Given the description of an element on the screen output the (x, y) to click on. 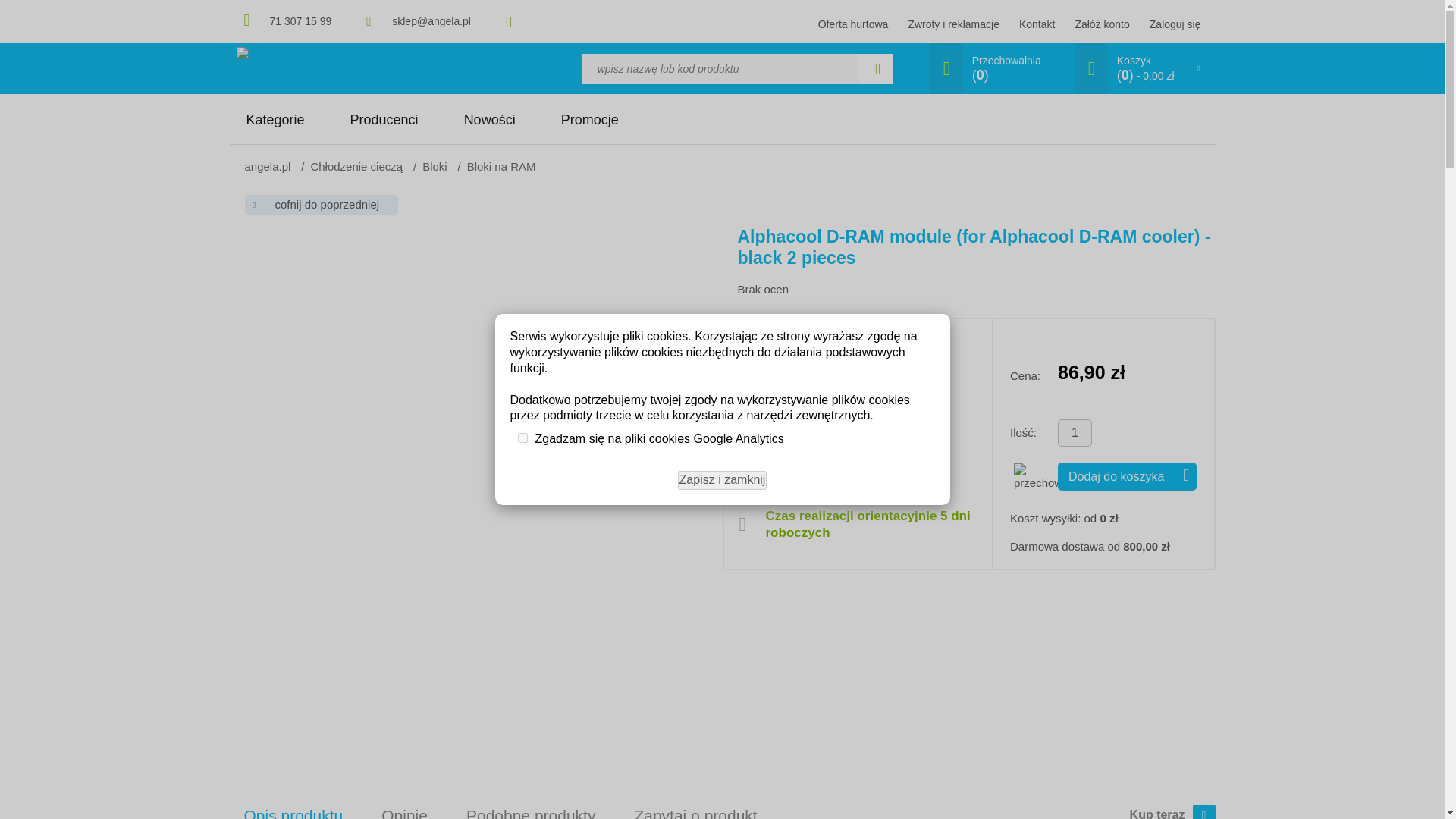
Oferta hurtowa (853, 24)
Kontakt (1036, 24)
Zwroty i reklamacje (952, 24)
Napisz (430, 21)
Kontakt (1036, 24)
Kategorie (280, 120)
71 307 15 99 (300, 21)
Oferta hurtowa (989, 68)
Kategorie (853, 24)
Zwroty i reklamacje (280, 120)
on (952, 24)
1 (521, 438)
Szukaj (1075, 432)
Zapisz i zamknij (878, 68)
